Given the description of an element on the screen output the (x, y) to click on. 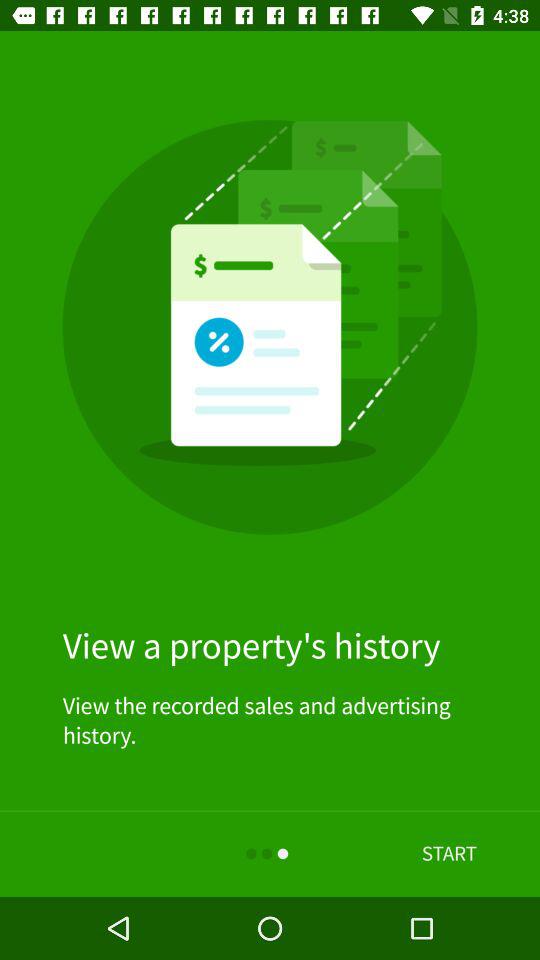
open start item (449, 853)
